Given the description of an element on the screen output the (x, y) to click on. 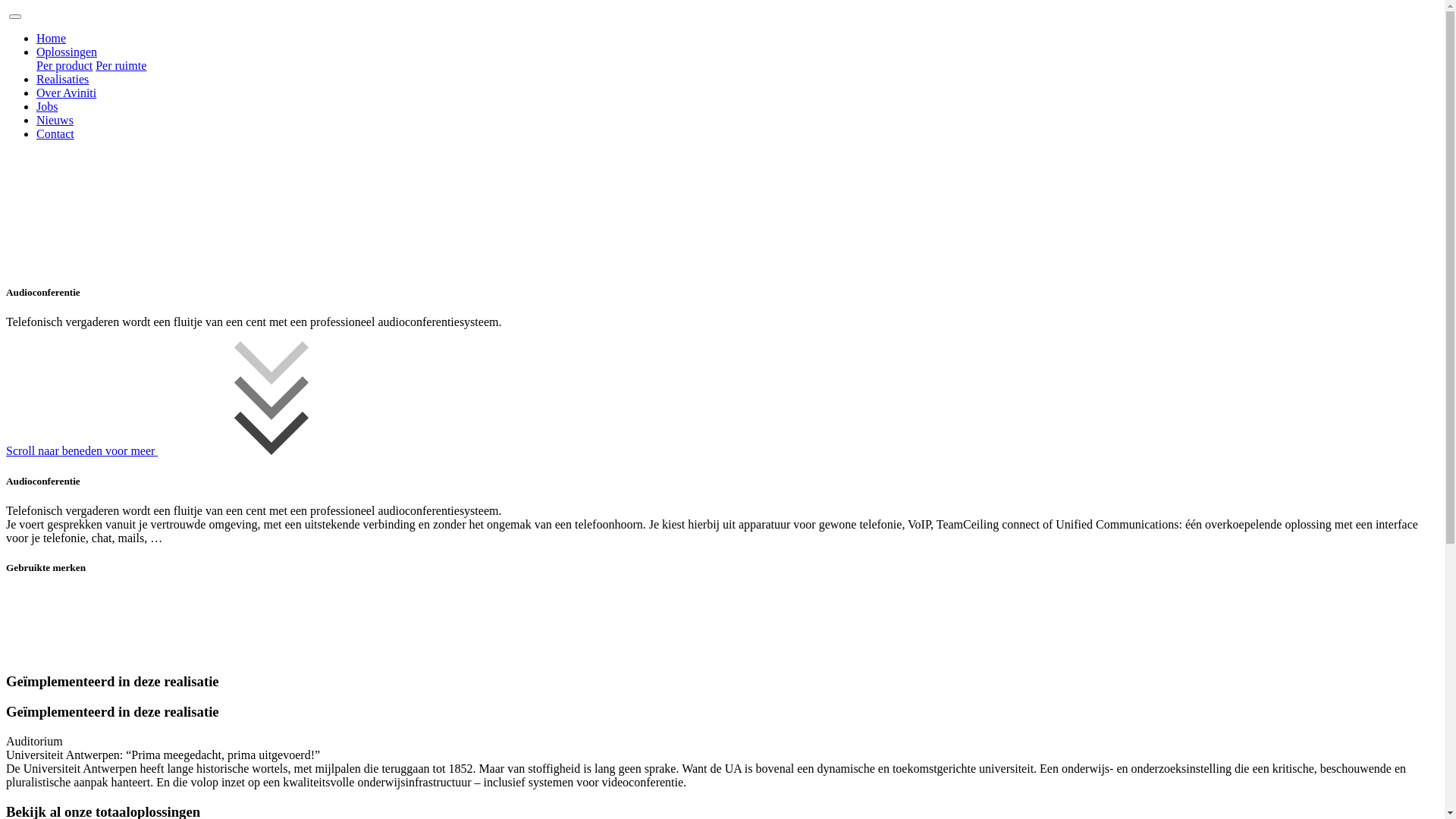
Scroll naar beneden voor meer Element type: text (195, 450)
Jobs Element type: text (46, 106)
Per product Element type: text (64, 65)
Nieuws Element type: text (54, 119)
Realisaties Element type: text (62, 78)
Per ruimte Element type: text (120, 65)
Over Aviniti Element type: text (66, 92)
Oplossingen Element type: text (66, 51)
Home Element type: text (50, 37)
Contact Element type: text (55, 133)
